Given the description of an element on the screen output the (x, y) to click on. 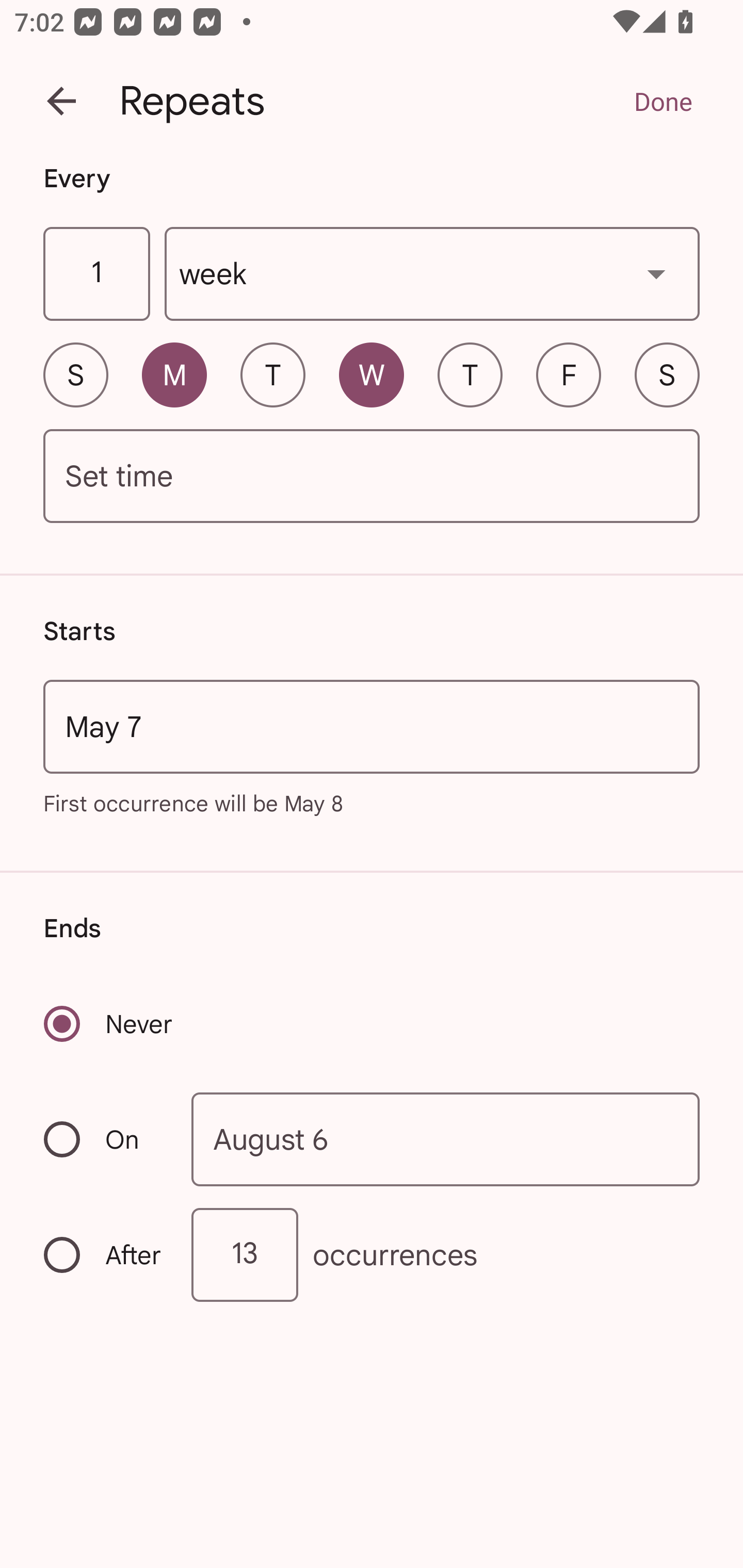
Back (61, 101)
Done (663, 101)
1 (96, 274)
week (431, 274)
Show dropdown menu (655, 273)
S Sunday (75, 374)
M Monday, selected (173, 374)
T Tuesday (272, 374)
W Wednesday, selected (371, 374)
T Thursday (469, 374)
F Friday (568, 374)
S Saturday (666, 374)
Set time (371, 476)
May 7 (371, 726)
Never Recurrence never ends (109, 1023)
August 6 (445, 1139)
On Recurrence ends on a specific date (104, 1138)
13 (244, 1254)
